Given the description of an element on the screen output the (x, y) to click on. 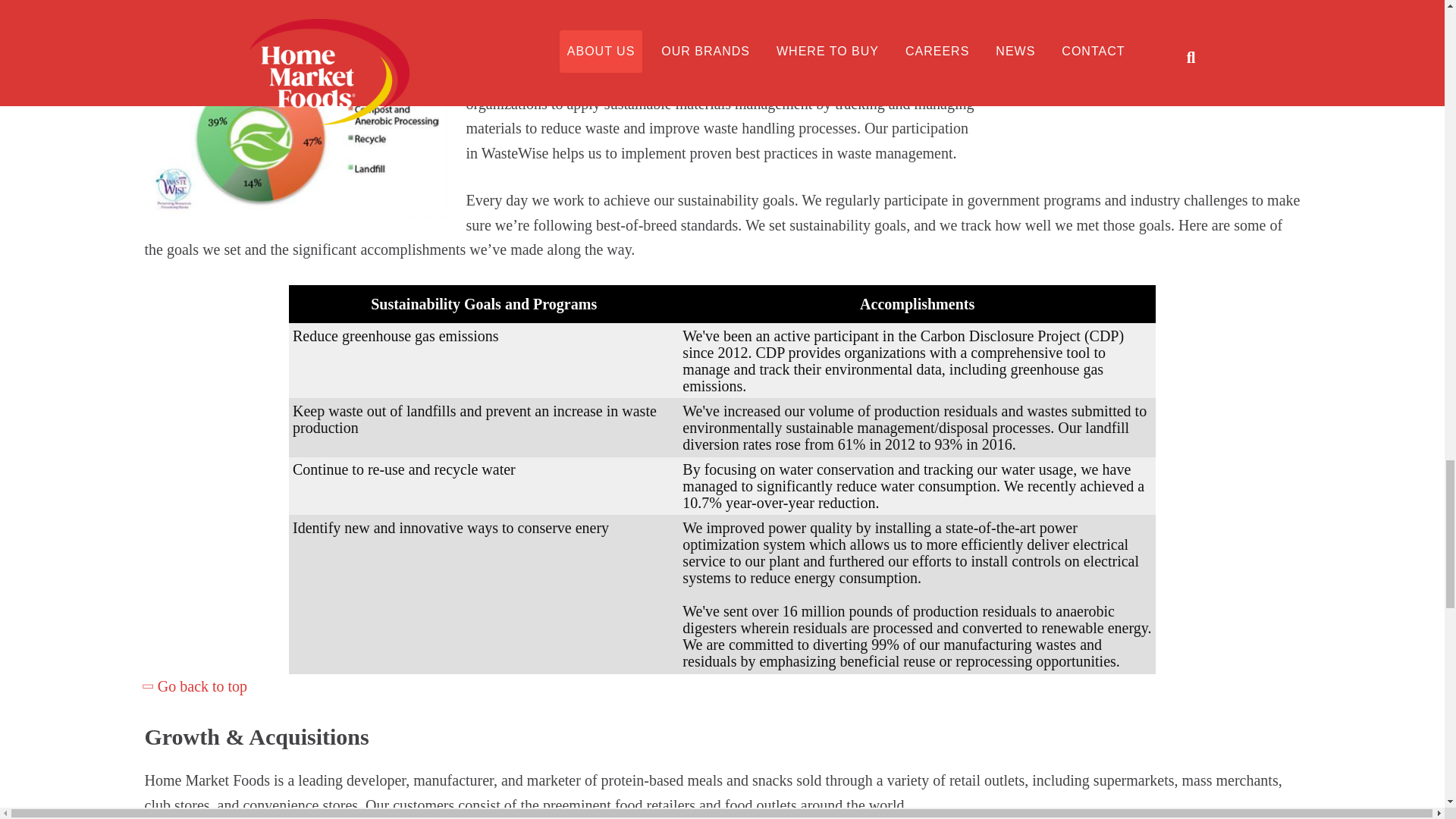
Home Market Foods Waste Disposal Process (1147, 49)
Home Market Foods Sustainable Materials Disposition (295, 130)
Go back to top (195, 686)
